Given the description of an element on the screen output the (x, y) to click on. 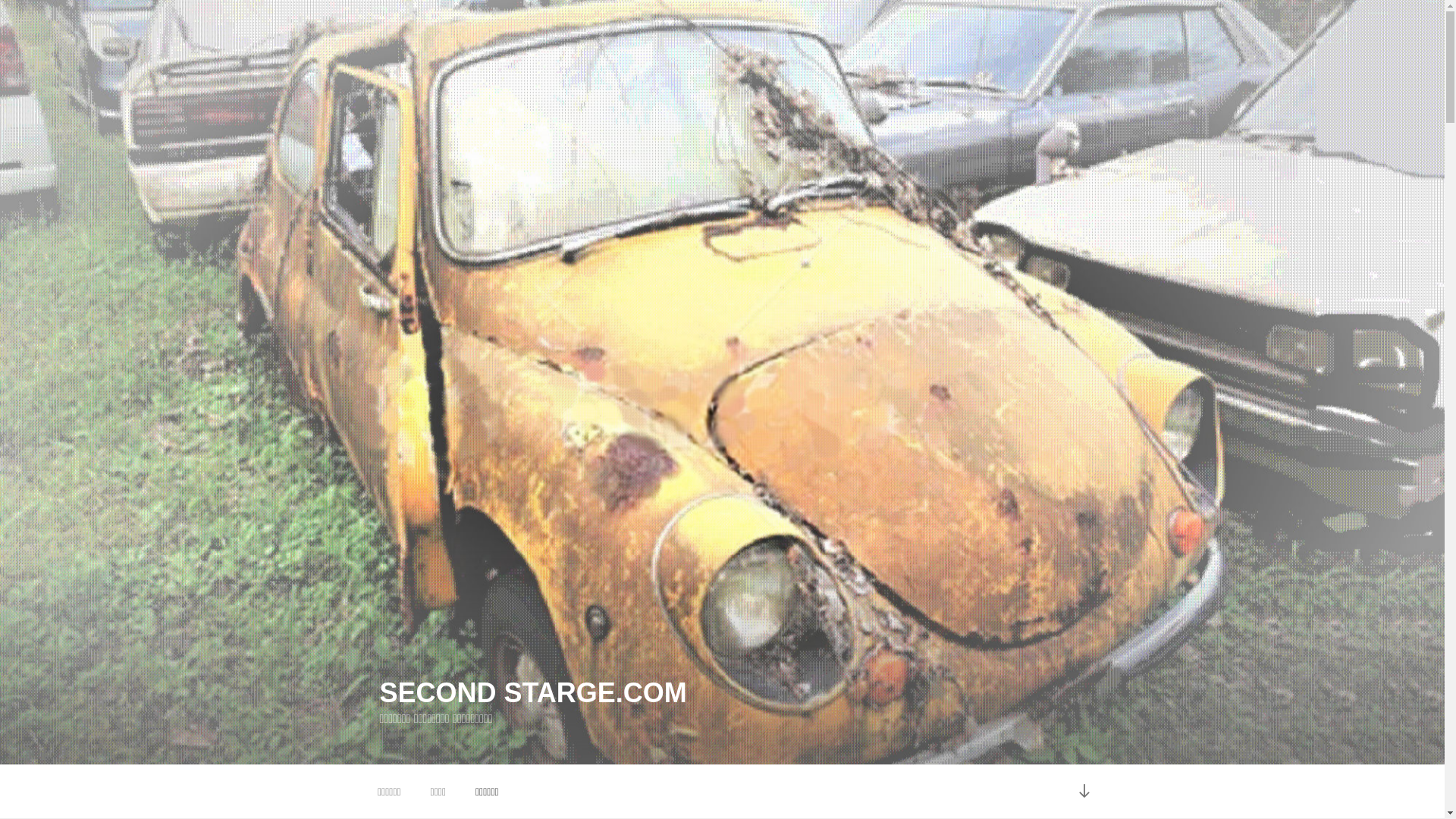
SECOND STARGE.COM Element type: text (532, 692)
